Given the description of an element on the screen output the (x, y) to click on. 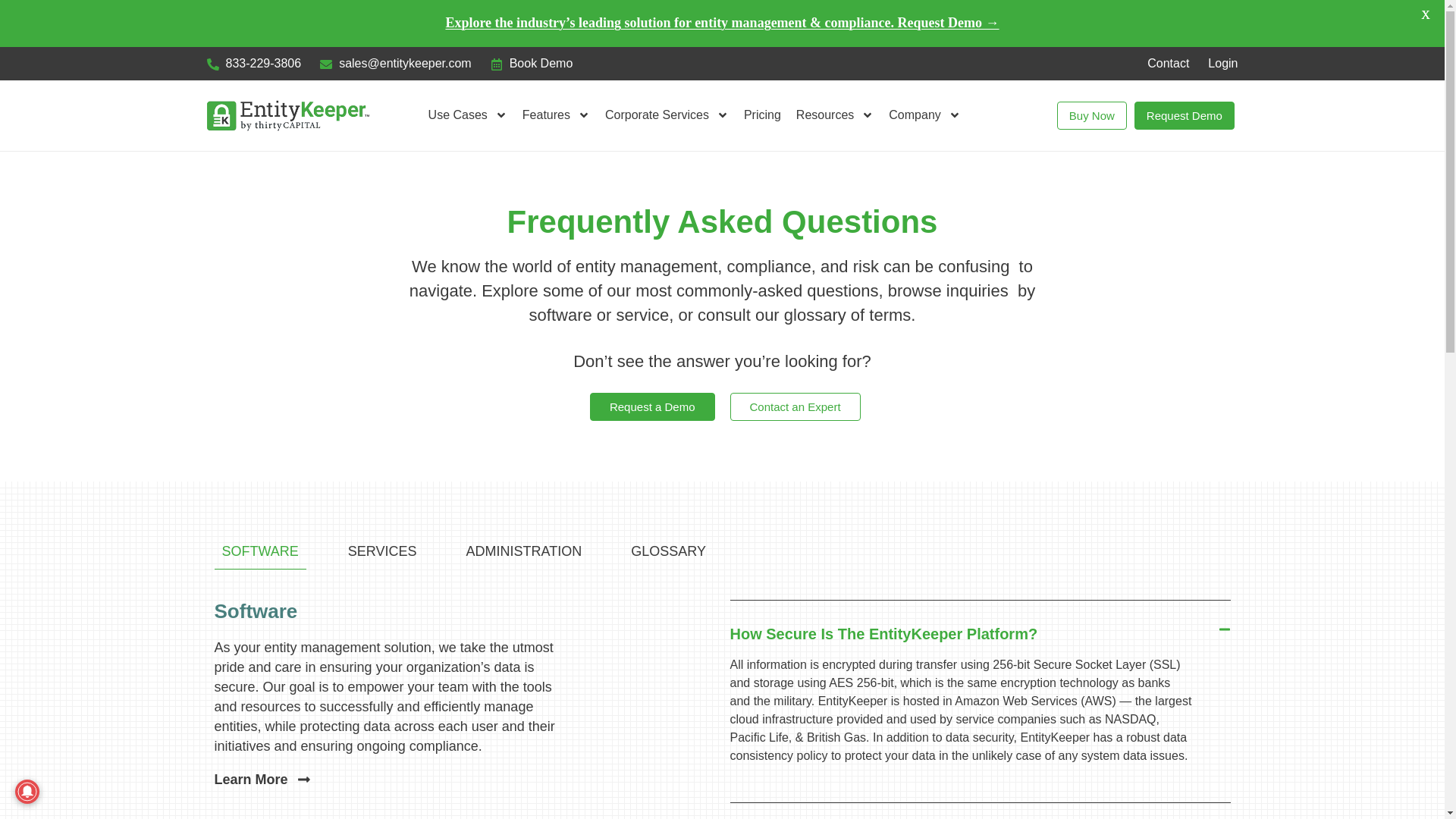
Features (555, 114)
Contact (1168, 63)
Corporate Services (666, 114)
Login (1222, 63)
Resources (834, 114)
Pricing (762, 114)
Company (924, 114)
833-229-3806 (253, 63)
Book Demo (531, 63)
Use Cases (467, 114)
